Given the description of an element on the screen output the (x, y) to click on. 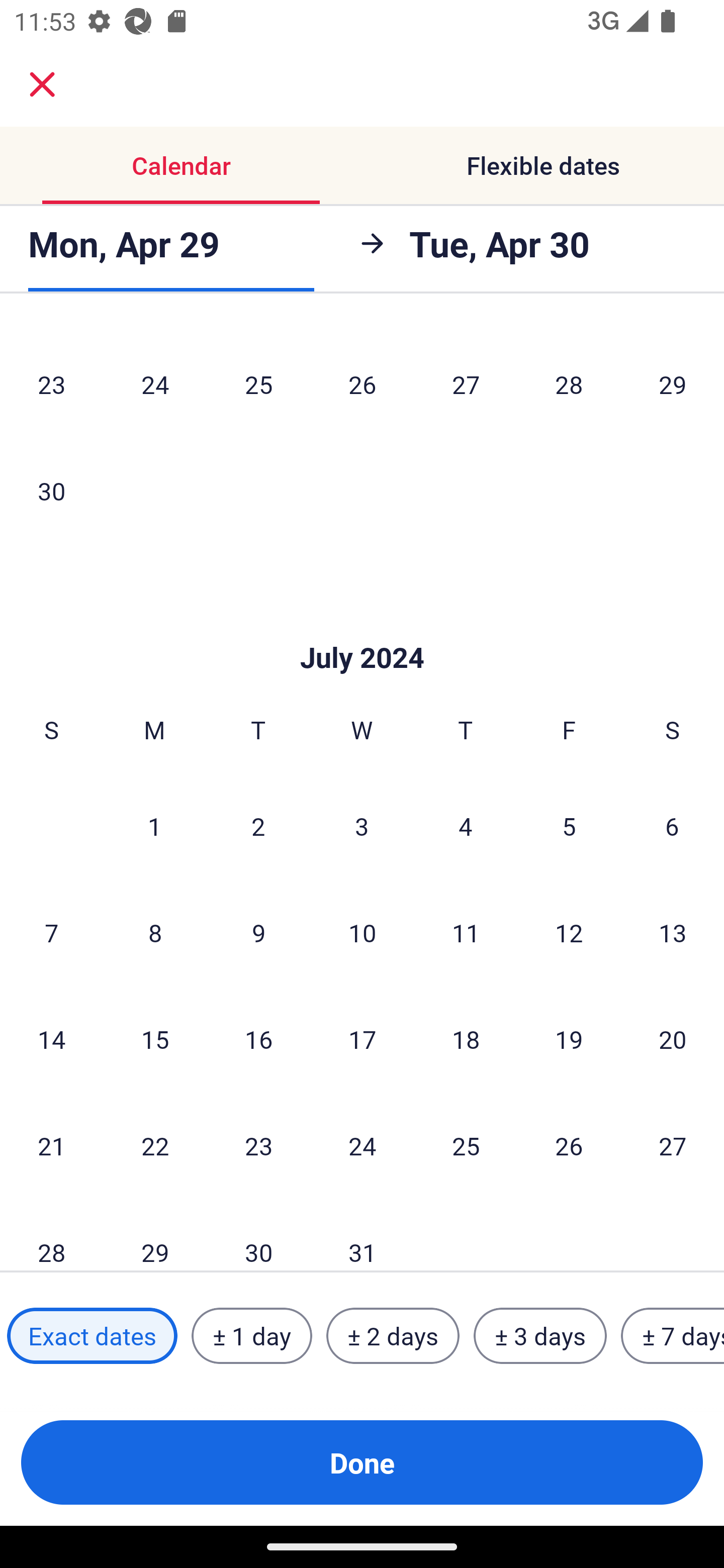
close. (42, 84)
Flexible dates (542, 164)
23 Sunday, June 23, 2024 (51, 383)
24 Monday, June 24, 2024 (155, 383)
25 Tuesday, June 25, 2024 (258, 383)
26 Wednesday, June 26, 2024 (362, 383)
27 Thursday, June 27, 2024 (465, 383)
28 Friday, June 28, 2024 (569, 383)
29 Saturday, June 29, 2024 (672, 383)
30 Sunday, June 30, 2024 (51, 490)
Skip to Done (362, 626)
1 Monday, July 1, 2024 (154, 826)
2 Tuesday, July 2, 2024 (257, 826)
3 Wednesday, July 3, 2024 (361, 826)
4 Thursday, July 4, 2024 (465, 826)
5 Friday, July 5, 2024 (568, 826)
6 Saturday, July 6, 2024 (672, 826)
7 Sunday, July 7, 2024 (51, 932)
8 Monday, July 8, 2024 (155, 932)
9 Tuesday, July 9, 2024 (258, 932)
10 Wednesday, July 10, 2024 (362, 932)
11 Thursday, July 11, 2024 (465, 932)
12 Friday, July 12, 2024 (569, 932)
13 Saturday, July 13, 2024 (672, 932)
14 Sunday, July 14, 2024 (51, 1039)
15 Monday, July 15, 2024 (155, 1039)
16 Tuesday, July 16, 2024 (258, 1039)
17 Wednesday, July 17, 2024 (362, 1039)
18 Thursday, July 18, 2024 (465, 1039)
19 Friday, July 19, 2024 (569, 1039)
20 Saturday, July 20, 2024 (672, 1039)
21 Sunday, July 21, 2024 (51, 1145)
22 Monday, July 22, 2024 (155, 1145)
23 Tuesday, July 23, 2024 (258, 1145)
24 Wednesday, July 24, 2024 (362, 1145)
25 Thursday, July 25, 2024 (465, 1145)
26 Friday, July 26, 2024 (569, 1145)
27 Saturday, July 27, 2024 (672, 1145)
28 Sunday, July 28, 2024 (51, 1235)
29 Monday, July 29, 2024 (155, 1235)
30 Tuesday, July 30, 2024 (258, 1235)
31 Wednesday, July 31, 2024 (362, 1235)
Exact dates (92, 1335)
± 1 day (251, 1335)
± 2 days (392, 1335)
± 3 days (539, 1335)
± 7 days (672, 1335)
Done (361, 1462)
